Given the description of an element on the screen output the (x, y) to click on. 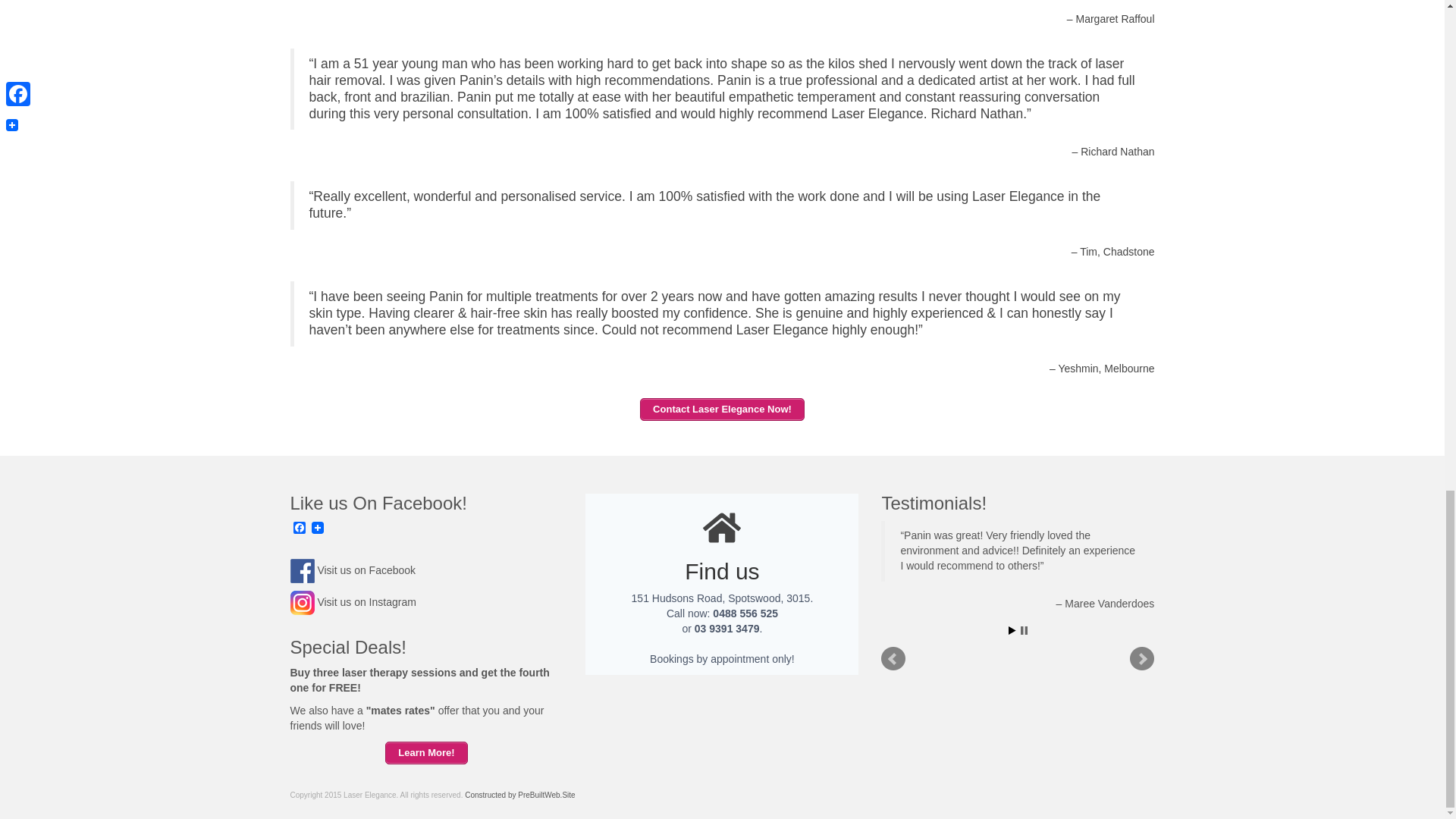
Learn More! (426, 753)
Facebook (298, 528)
Visit us on Facebook (365, 570)
Visit us on Instagram (365, 602)
Facebook (298, 528)
Contact Laser Elegance Now! (722, 409)
